Given the description of an element on the screen output the (x, y) to click on. 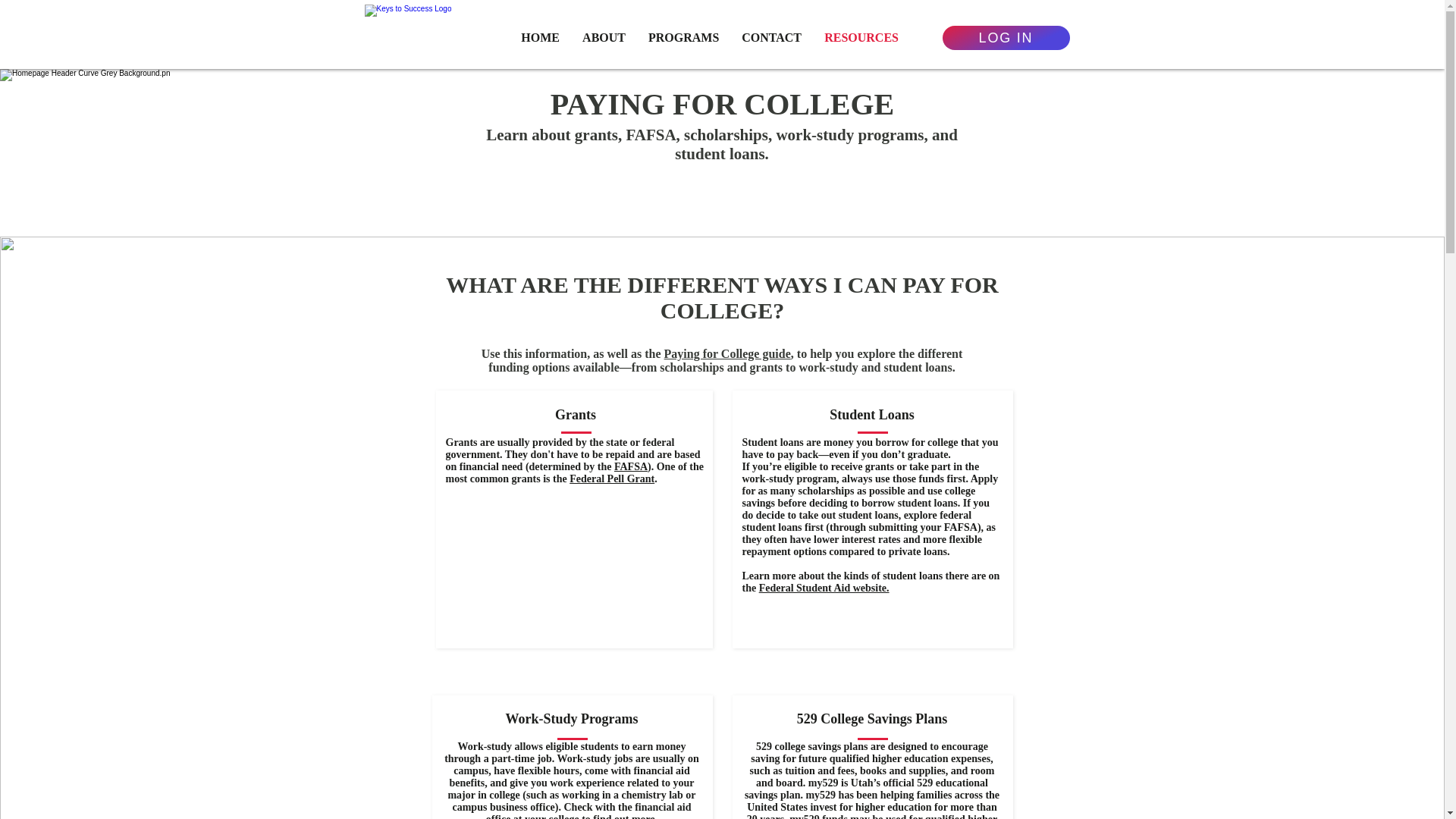
ABOUT (603, 37)
RESOURCES (861, 37)
PROGRAMS (683, 37)
Paying for College guide (726, 353)
FAFSA (630, 466)
Federal Pell Grant (611, 478)
HOME (539, 37)
CONTACT (771, 37)
Federal Student Aid website. (823, 587)
LOG IN (1005, 37)
